Given the description of an element on the screen output the (x, y) to click on. 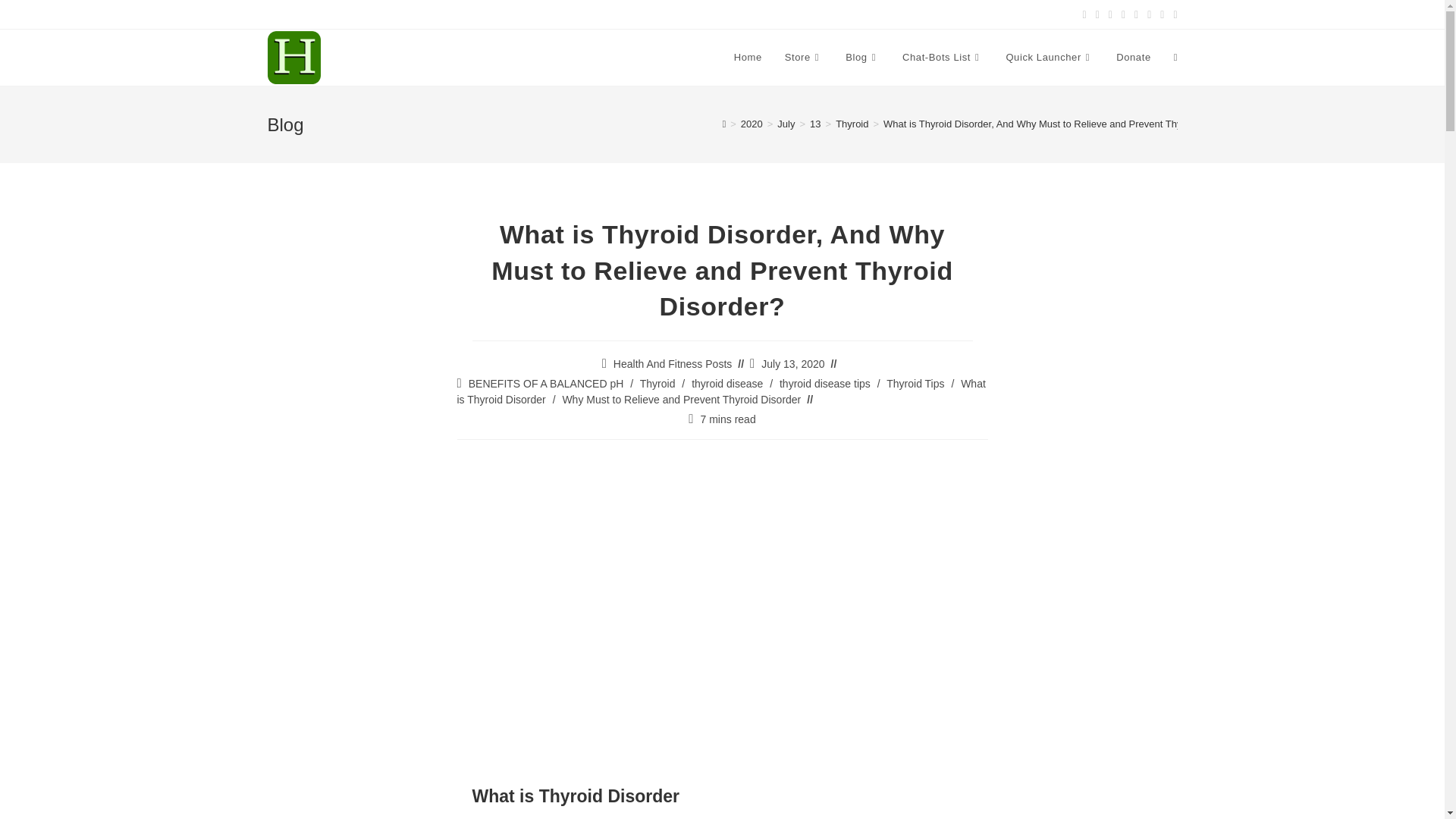
Chat-Bots List (942, 57)
Browser Extension (1049, 57)
Store (803, 57)
Quick Launcher (1049, 57)
Blog (862, 57)
Home (747, 57)
Posts by Health And Fitness Posts (672, 363)
Donate (1133, 57)
